Given the description of an element on the screen output the (x, y) to click on. 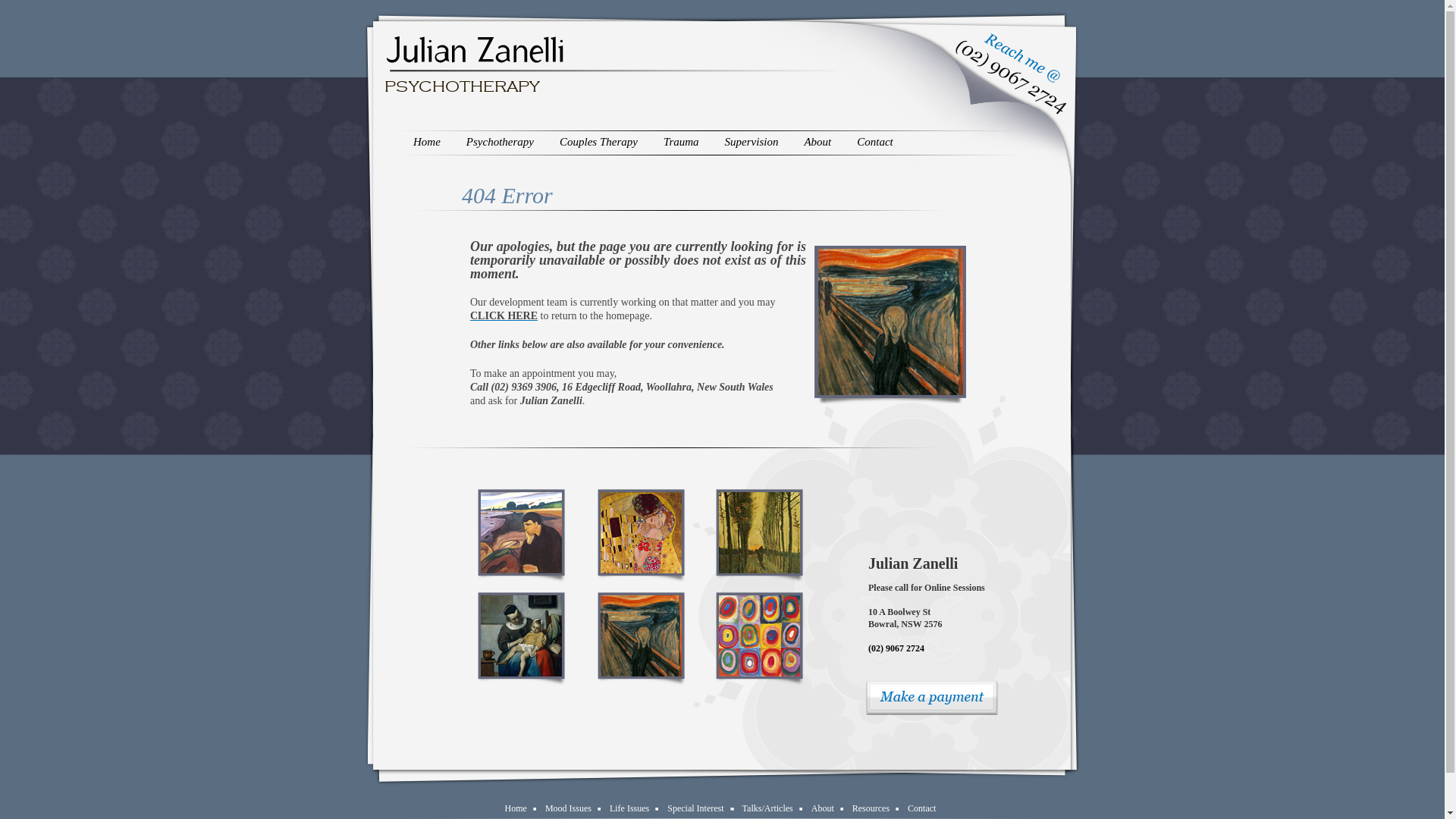
Psychotherapy Element type: text (499, 143)
Life Issues Element type: text (629, 808)
Mood Issues Element type: text (568, 808)
Home Element type: text (516, 808)
Talks/Articles Element type: text (767, 808)
Resources Element type: text (870, 808)
About Element type: text (822, 808)
Contact Element type: text (921, 808)
Special Interest Element type: text (695, 808)
(02) 9067 2724 Element type: text (896, 648)
Couples Therapy Element type: text (598, 143)
About Element type: text (817, 143)
Trauma Element type: text (681, 143)
Supervision Element type: text (751, 143)
Home Element type: text (426, 143)
Contact Element type: text (875, 143)
CLICK HERE Element type: text (503, 315)
